Given the description of an element on the screen output the (x, y) to click on. 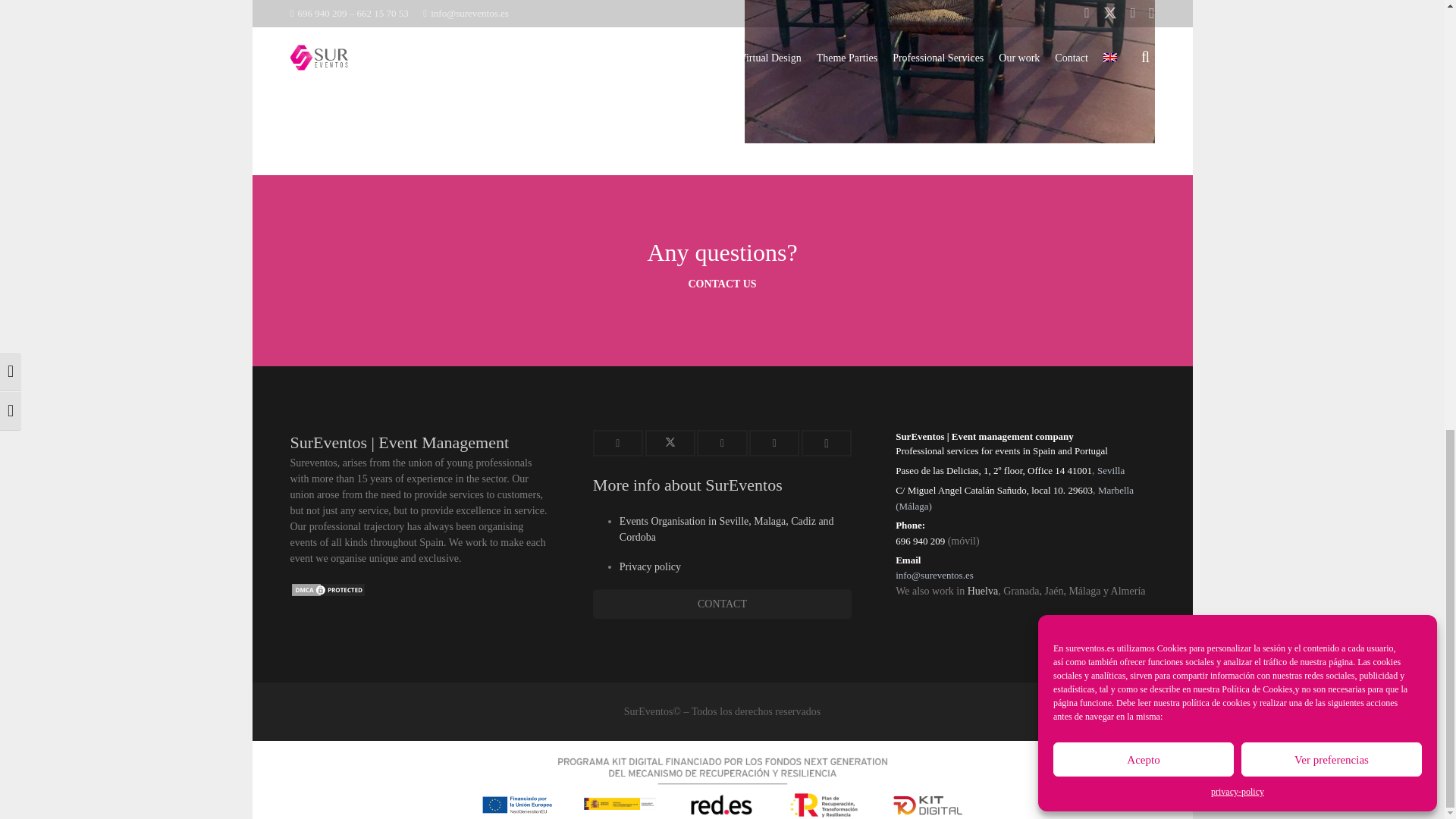
CONTACT (721, 603)
